Given the description of an element on the screen output the (x, y) to click on. 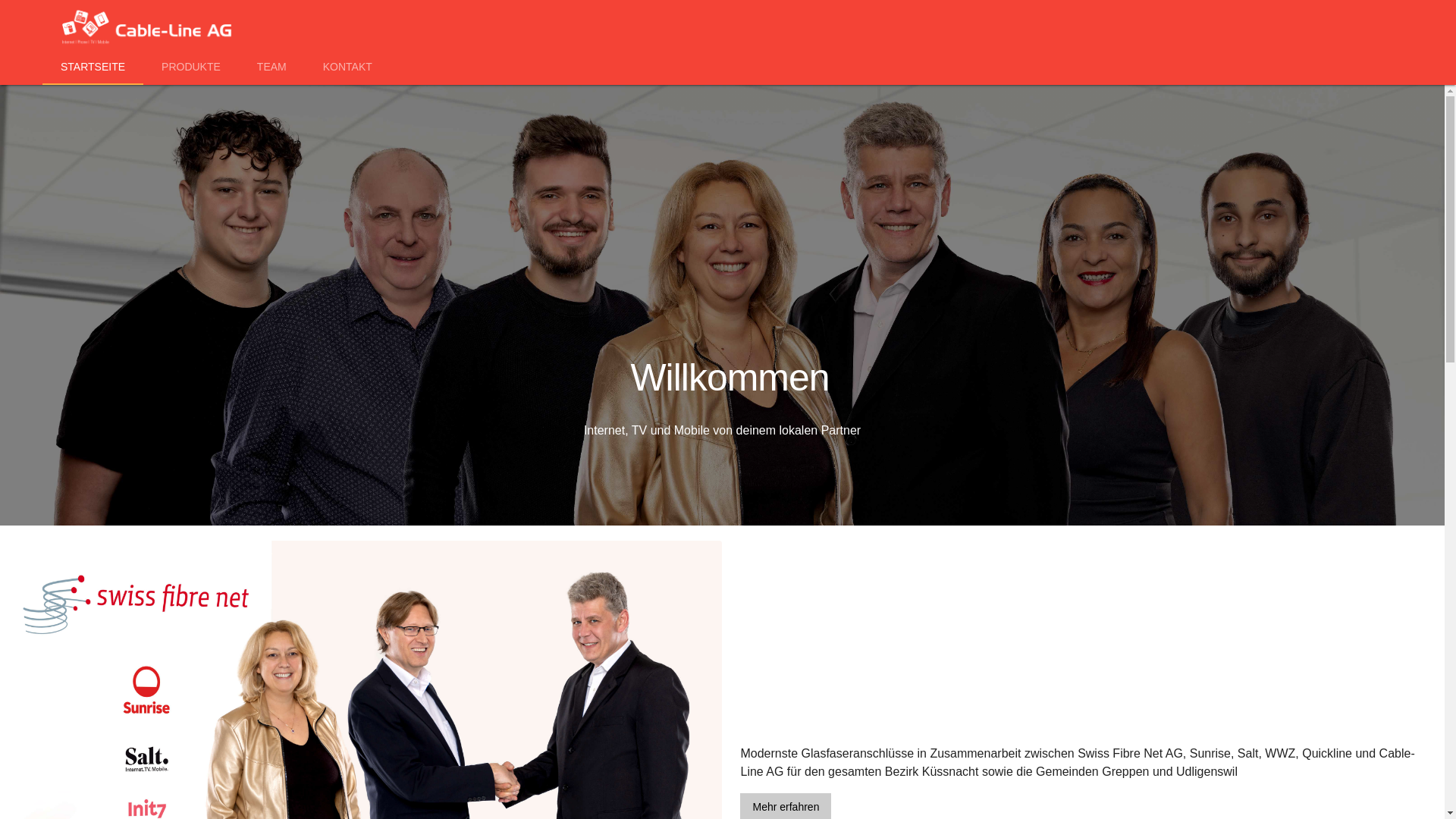
TEAM Element type: text (271, 66)
KONTAKT Element type: text (347, 66)
PRODUKTE Element type: text (190, 66)
STARTSEITE Element type: text (92, 66)
